Given the description of an element on the screen output the (x, y) to click on. 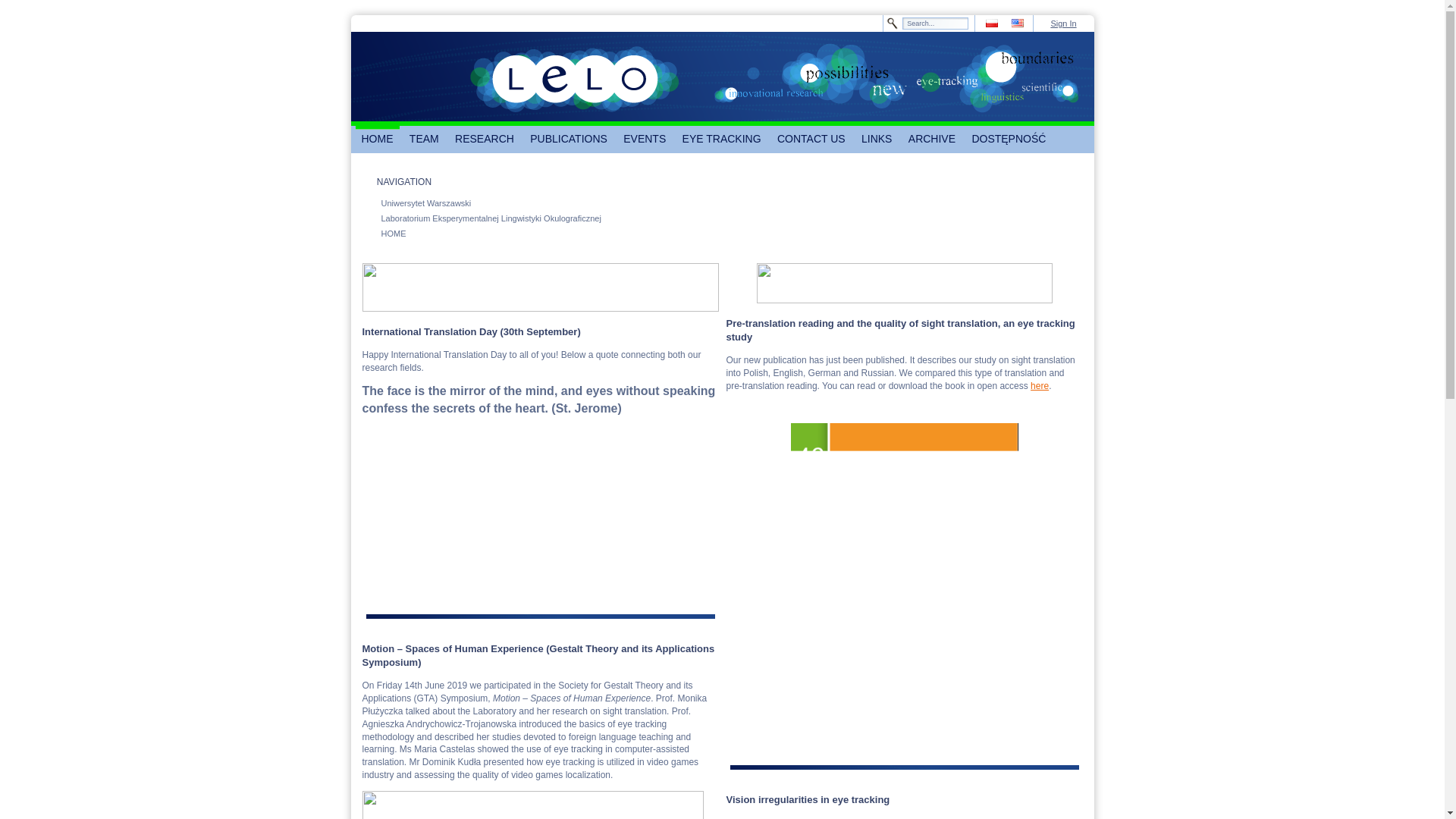
HOME (376, 139)
Search Web Content (935, 23)
Search... (935, 23)
RESEARCH (483, 139)
Sign In (1062, 22)
Navigation (368, 182)
PUBLICATIONS (568, 139)
EVENTS (644, 139)
TEAM (424, 139)
Go to Uniwersytet Warszawski (406, 76)
EYE TRACKING (722, 139)
